Given the description of an element on the screen output the (x, y) to click on. 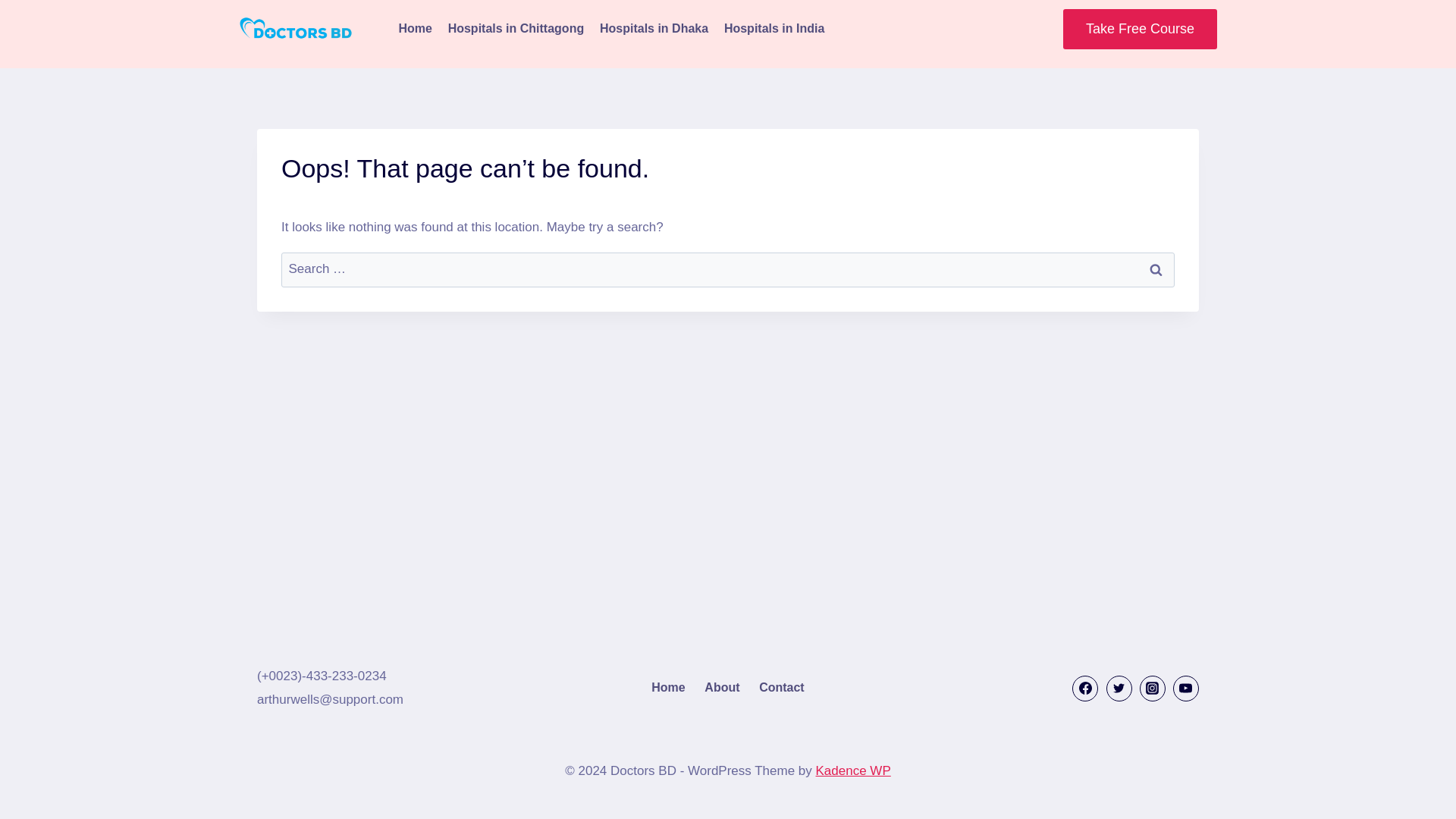
Search (1155, 269)
Home (414, 28)
Hospitals in Dhaka (654, 28)
Hospitals in Chittagong (515, 28)
Contact (781, 688)
Search (1155, 269)
Hospitals in India (773, 28)
Search (1155, 269)
About (722, 688)
Home (668, 688)
